Given the description of an element on the screen output the (x, y) to click on. 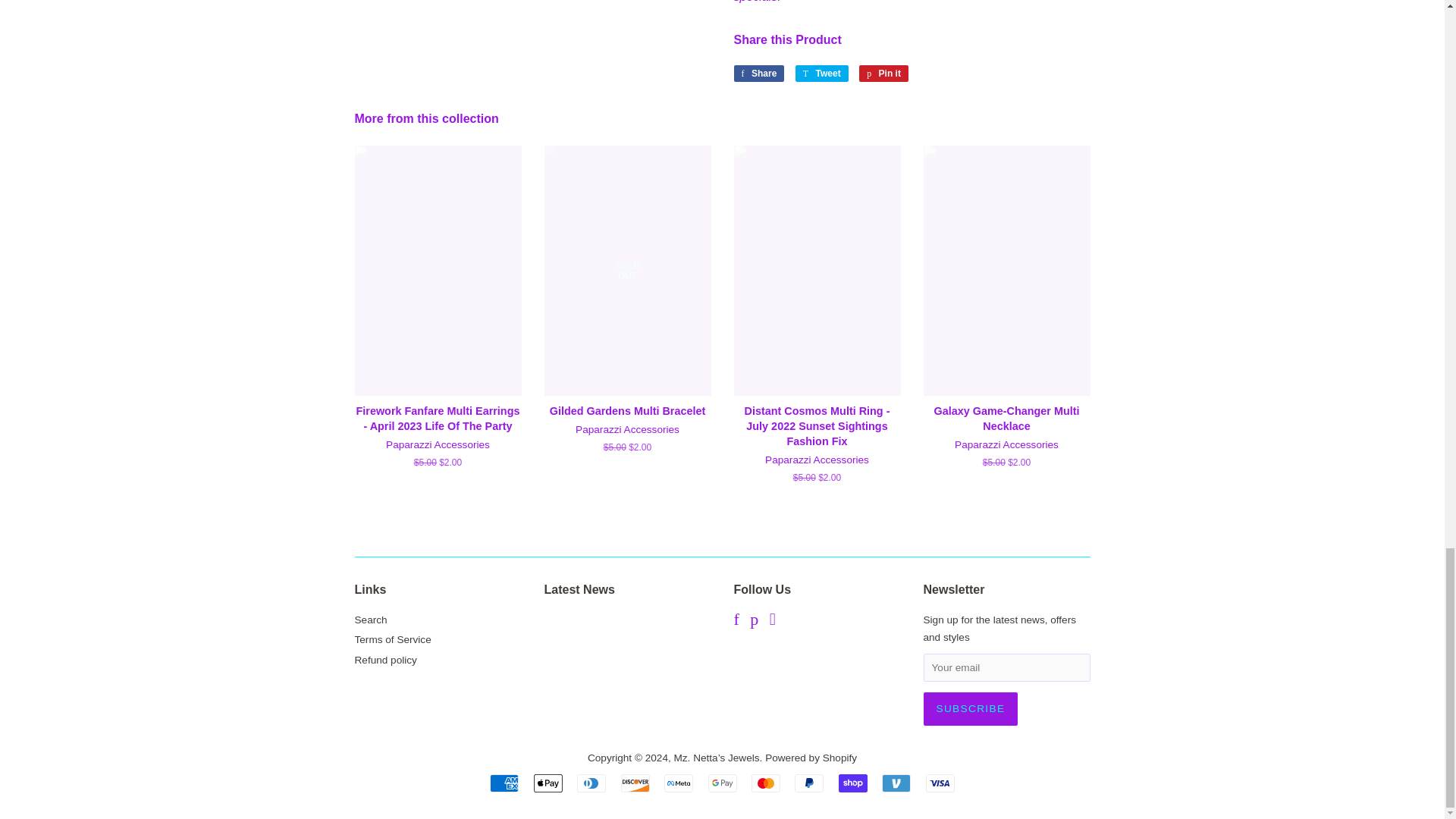
Subscribe (970, 708)
Mastercard (765, 782)
Meta Pay (678, 782)
Shop Pay (852, 782)
Discover (635, 782)
Venmo (896, 782)
Pin on Pinterest (883, 73)
Share on Facebook (758, 73)
Apple Pay (548, 782)
Diners Club (590, 782)
American Express (503, 782)
Tweet on Twitter (821, 73)
PayPal (809, 782)
Google Pay (721, 782)
Visa (940, 782)
